Given the description of an element on the screen output the (x, y) to click on. 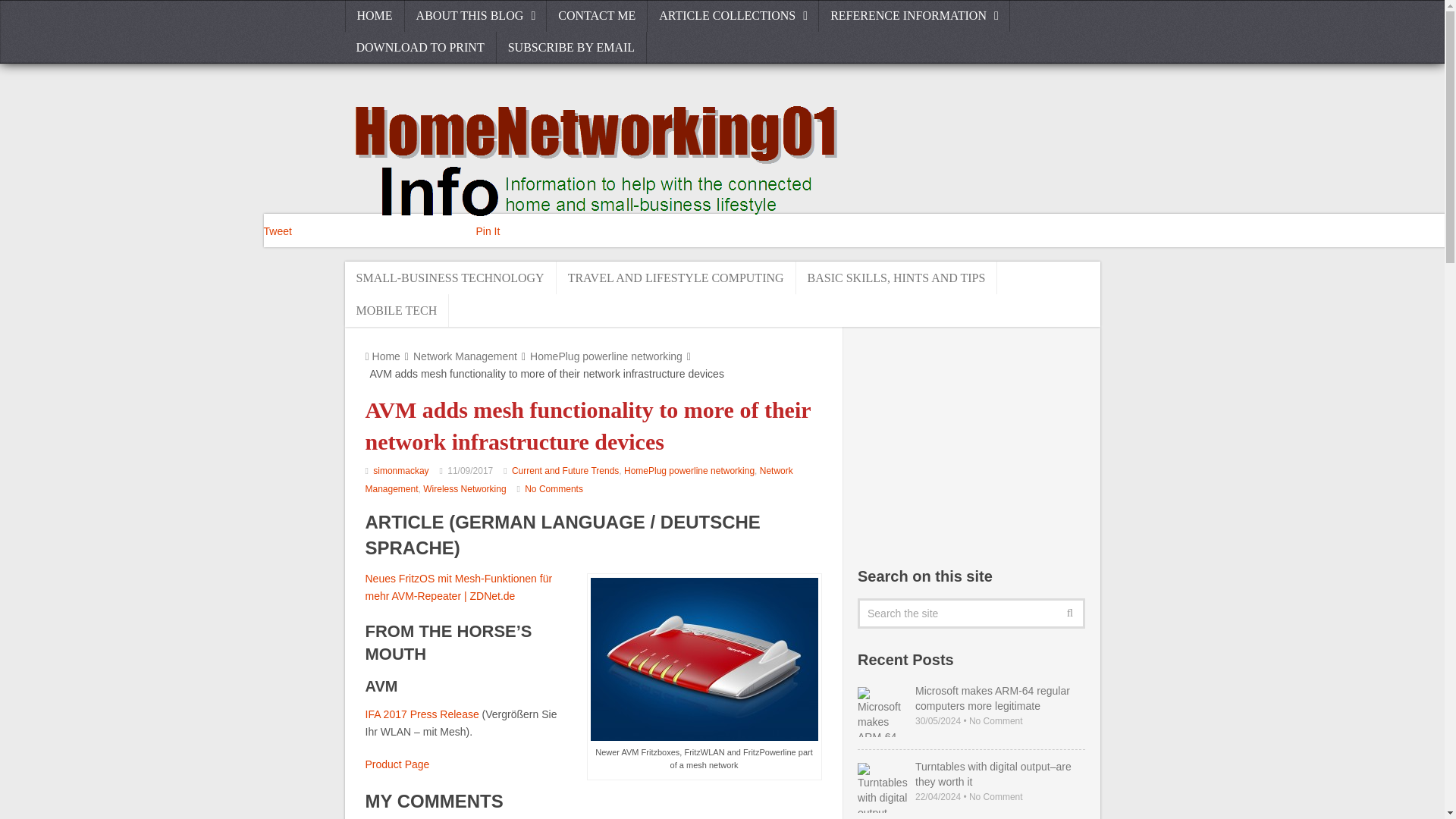
View all posts in HomePlug powerline networking (689, 470)
Network Management (579, 480)
SUBSCRIBE BY EMAIL (571, 47)
View all posts in Current and Future Trends (565, 470)
Current and Future Trends (565, 470)
SMALL-BUSINESS TECHNOLOGY (449, 277)
DOWNLOAD TO PRINT (419, 47)
HomePlug powerline networking (689, 470)
CONTACT ME (597, 15)
ARTICLE COLLECTIONS (732, 15)
